Given the description of an element on the screen output the (x, y) to click on. 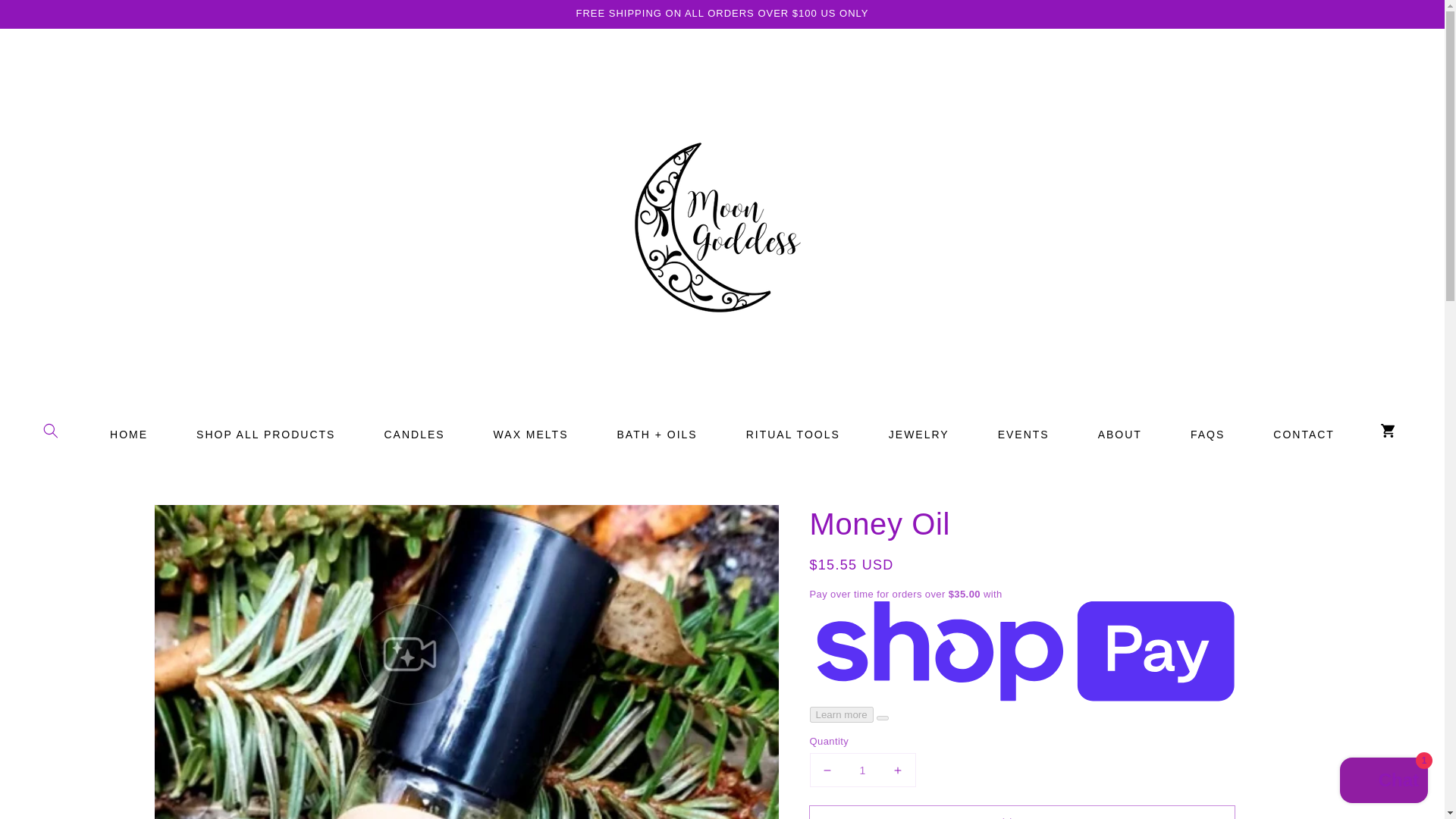
Skip to content (45, 16)
CANDLES (413, 434)
Shopify online store chat (1383, 781)
1 (862, 769)
FAQS (1206, 434)
EVENTS (1023, 434)
RITUAL TOOLS (792, 434)
HOME (128, 434)
CONTACT (1303, 434)
Skip to product information (198, 520)
JEWELRY (918, 434)
SHOP ALL PRODUCTS (265, 434)
ABOUT (1120, 434)
WAX MELTS (531, 434)
